Given the description of an element on the screen output the (x, y) to click on. 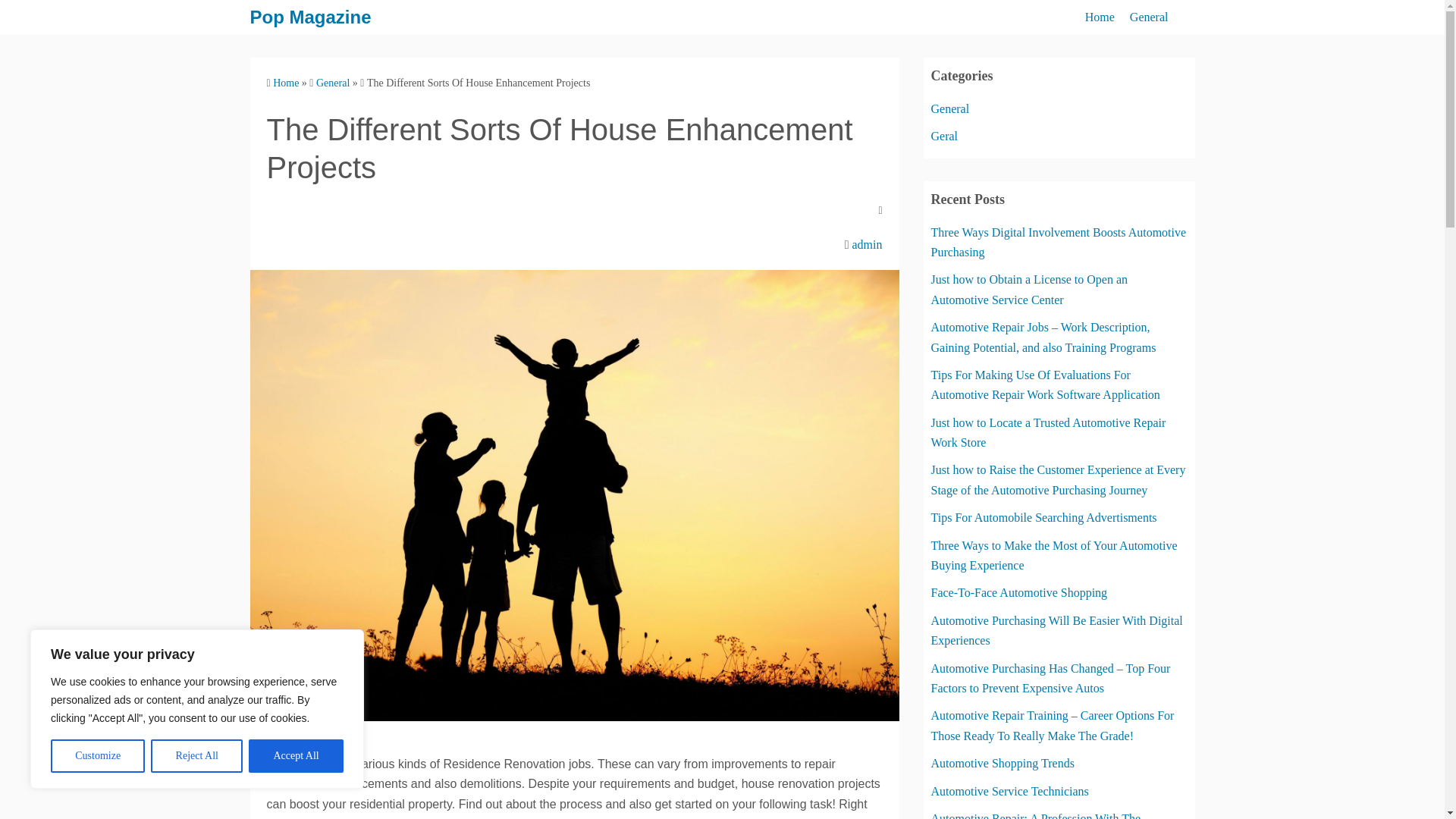
Customize (97, 756)
General (1149, 17)
Three Ways Digital Involvement Boosts Automotive Purchasing (1058, 242)
General (332, 82)
Geral (944, 135)
Reject All (197, 756)
General (950, 108)
Accept All (295, 756)
Pop Magazine (310, 16)
Home (285, 82)
admin (866, 244)
